Given the description of an element on the screen output the (x, y) to click on. 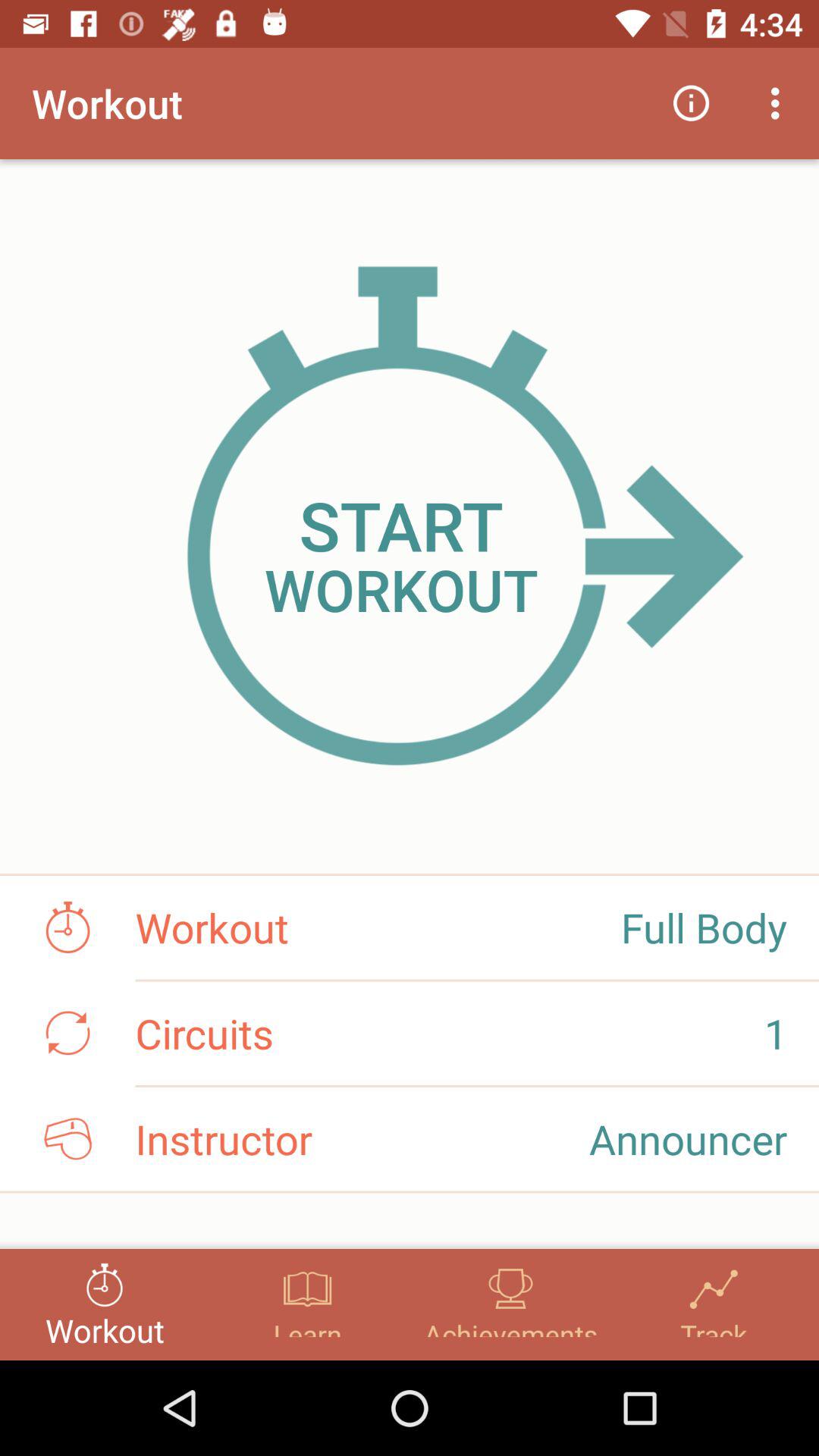
click icon to the right of the workout icon (691, 103)
